Given the description of an element on the screen output the (x, y) to click on. 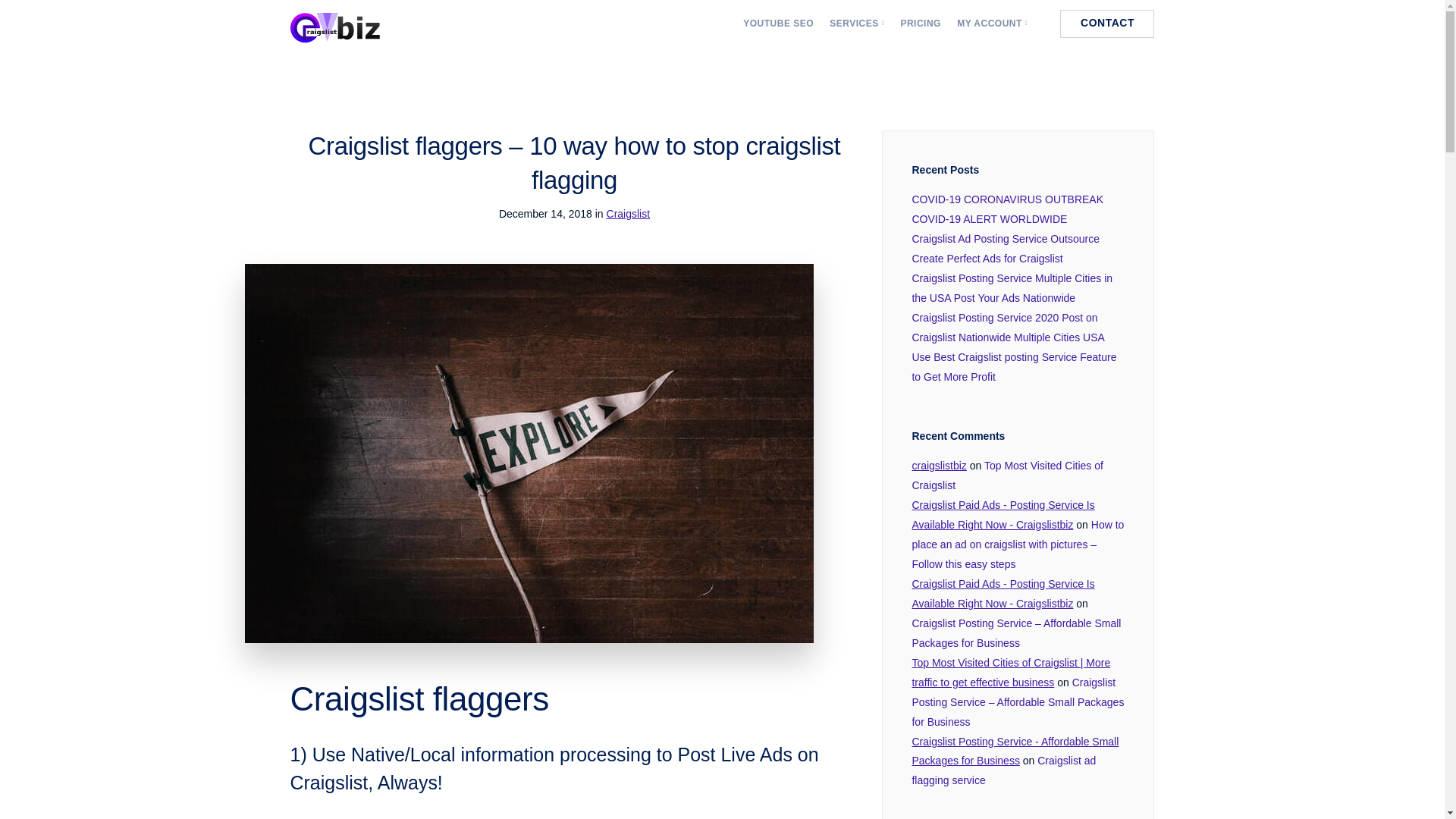
PRICING (919, 23)
Top Most Visited Cities of Craigslist (1006, 475)
COVID-19 CORONAVIRUS OUTBREAK COVID-19 ALERT WORLDWIDE (1007, 209)
CONTACT (1106, 23)
craigslistbiz (938, 465)
SERVICES (856, 23)
YOUTUBE SEO (777, 23)
Craigslist ad flagging service (1003, 770)
